Given the description of an element on the screen output the (x, y) to click on. 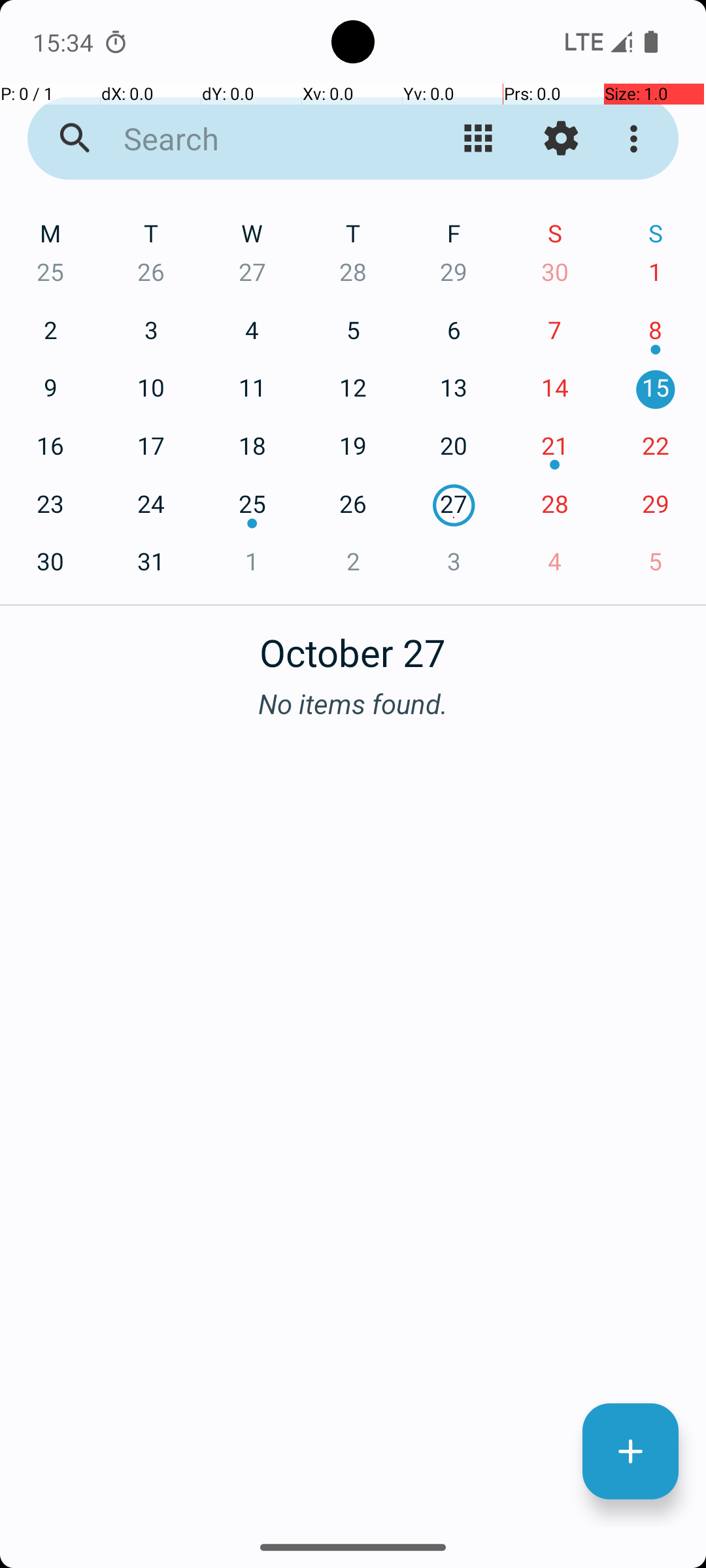
October 27 Element type: android.widget.TextView (352, 644)
